Given the description of an element on the screen output the (x, y) to click on. 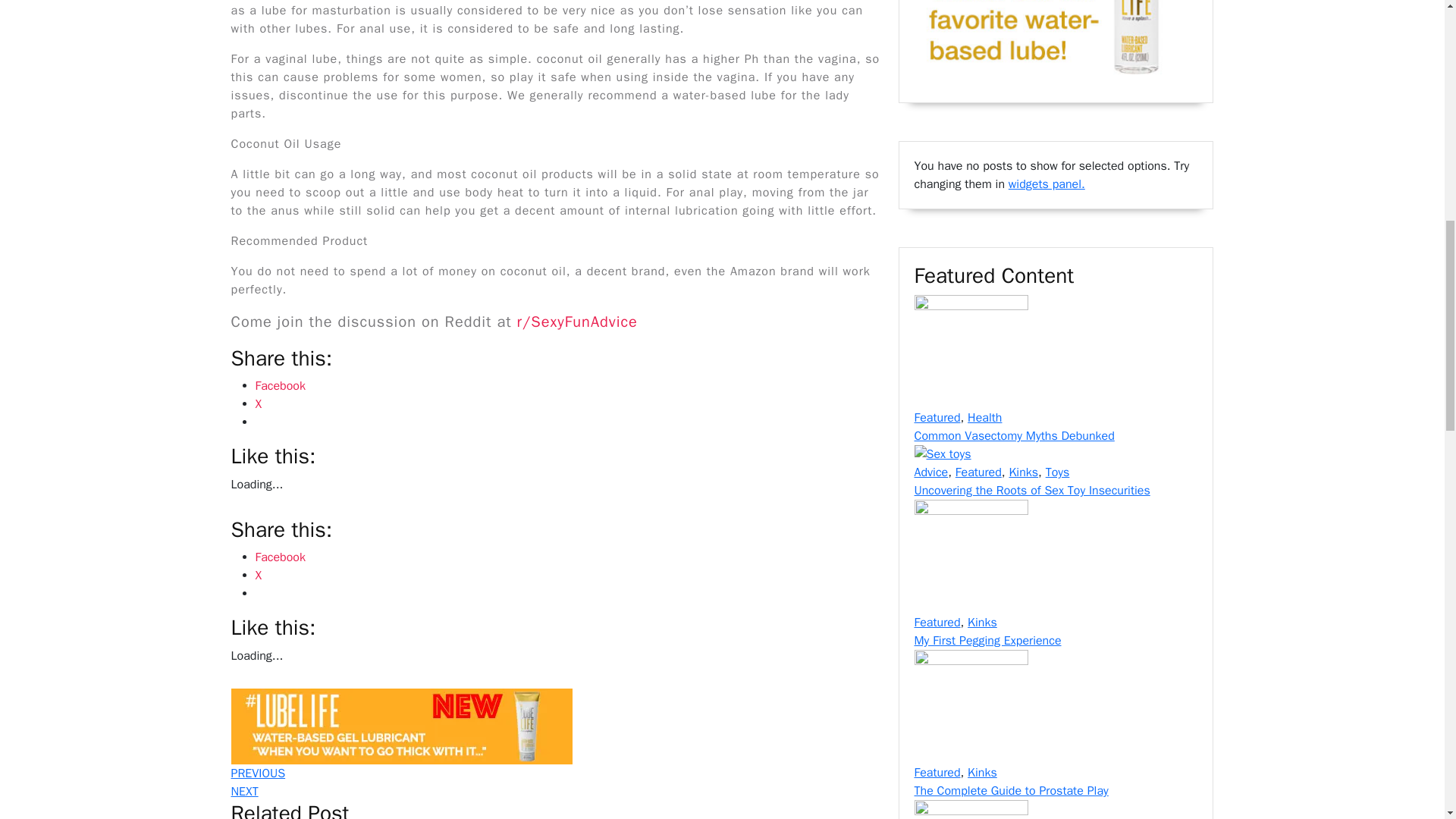
Facebook (279, 385)
Click to share on Facebook (554, 791)
Click to share on Facebook (279, 557)
Facebook (554, 773)
